Given the description of an element on the screen output the (x, y) to click on. 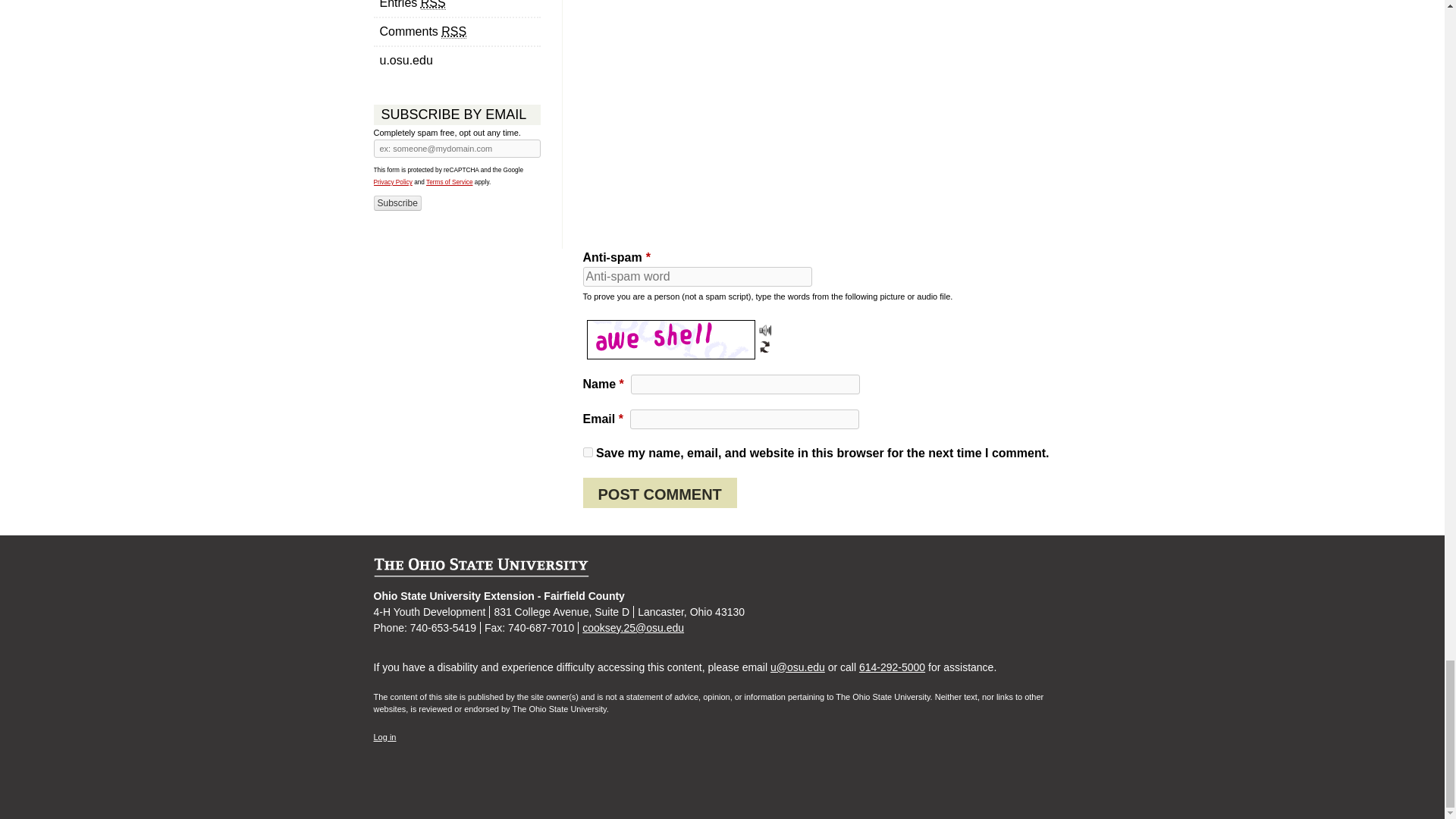
Really Simple Syndication (432, 4)
Powered by u.osu.edu (456, 60)
Post Comment (659, 492)
The latest comments to all posts in RSS (456, 31)
Syndicate this site using RSS 2.0 (456, 7)
Really Simple Syndication (453, 31)
yes (587, 452)
Subscribe (396, 202)
